Given the description of an element on the screen output the (x, y) to click on. 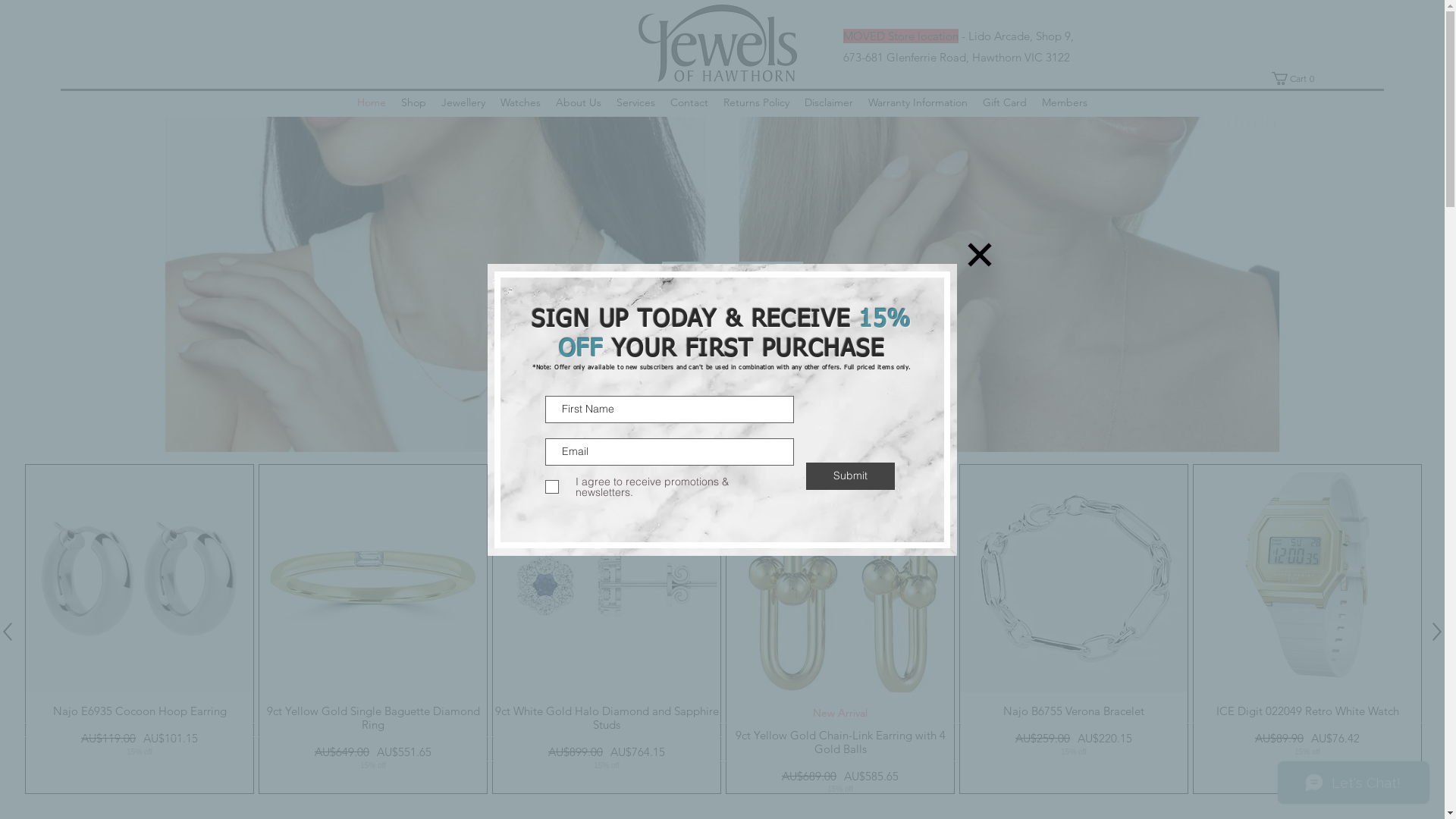
Watches Element type: text (520, 102)
Gift Card Element type: text (1004, 102)
About Us Element type: text (578, 102)
Warranty Information Element type: text (917, 102)
Members Element type: text (1064, 102)
Home Element type: text (371, 102)
Shop Element type: text (413, 102)
Contact Element type: text (688, 102)
Services Element type: text (635, 102)
Back to site Element type: hover (979, 254)
Jewellery Element type: text (462, 102)
Disclaimer Element type: text (828, 102)
SHOP NOW Element type: text (731, 369)
Returns Policy Element type: text (756, 102)
Submit Element type: text (850, 475)
Cart
0 Element type: text (1295, 78)
